Given the description of an element on the screen output the (x, y) to click on. 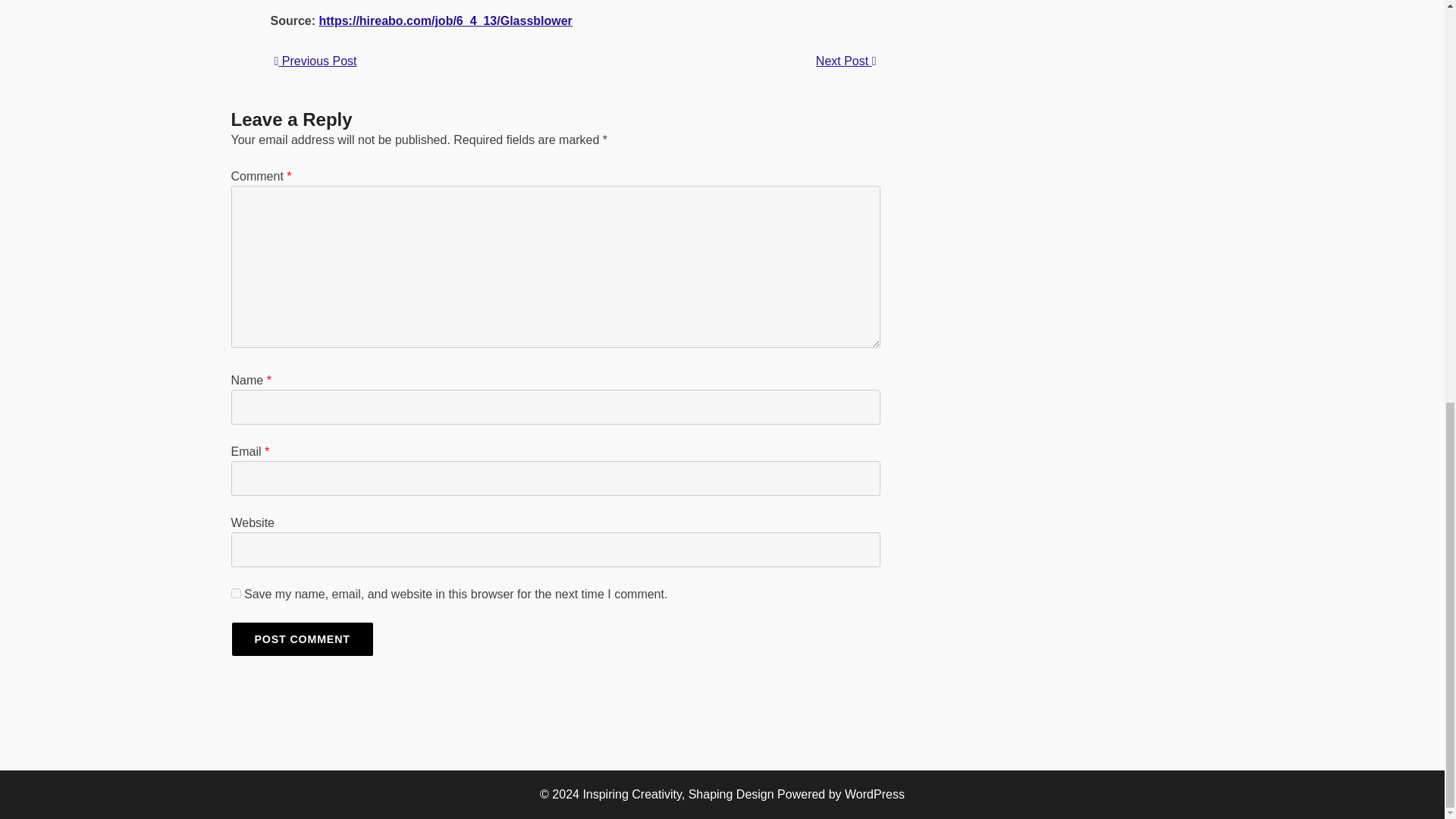
Post Comment (301, 638)
Previous Post (315, 60)
Post Comment (301, 638)
yes (235, 593)
Next Post (845, 61)
